Given the description of an element on the screen output the (x, y) to click on. 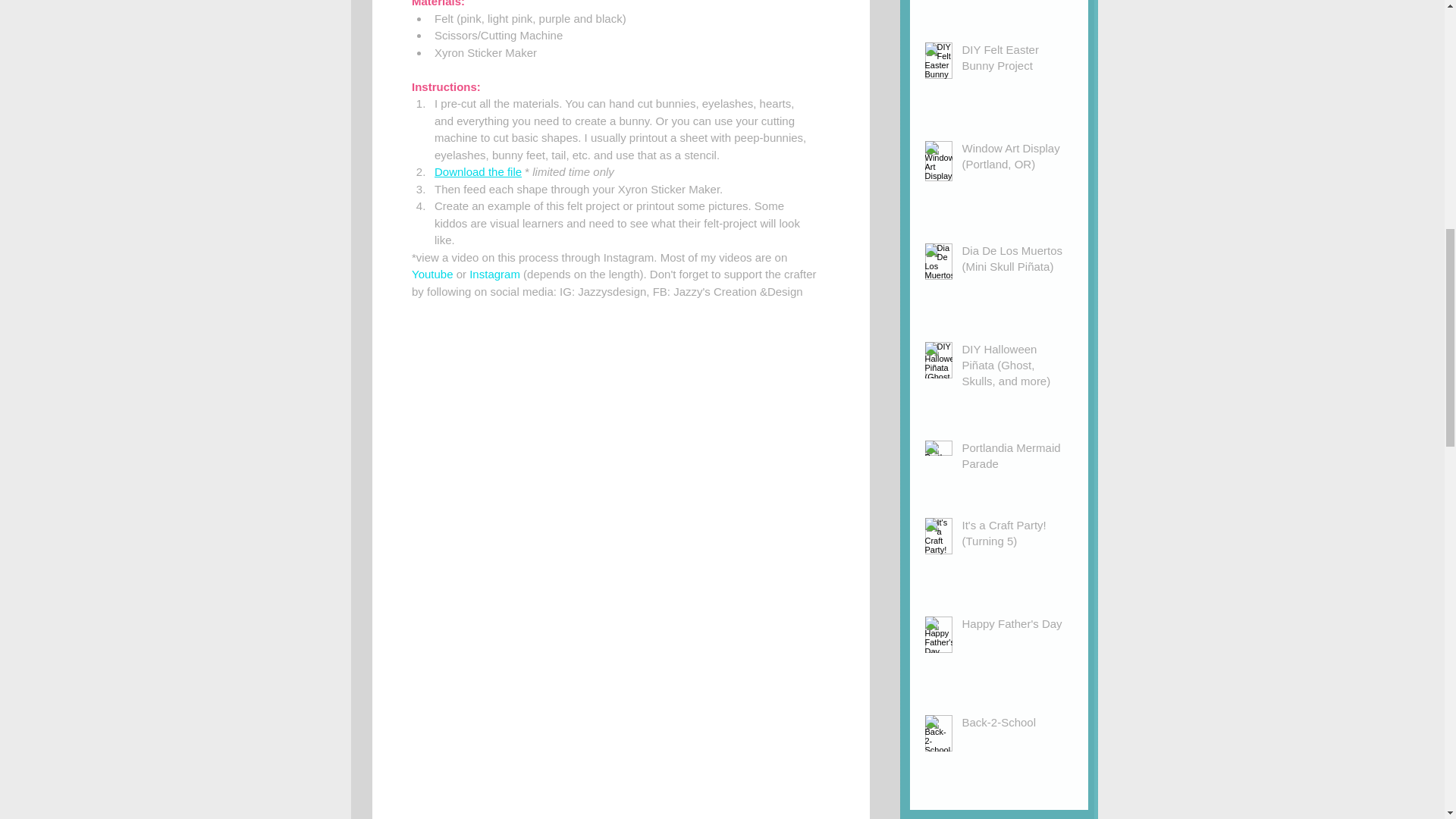
Download the file (477, 171)
 Youtube  (599, 265)
Instagram (493, 273)
